Given the description of an element on the screen output the (x, y) to click on. 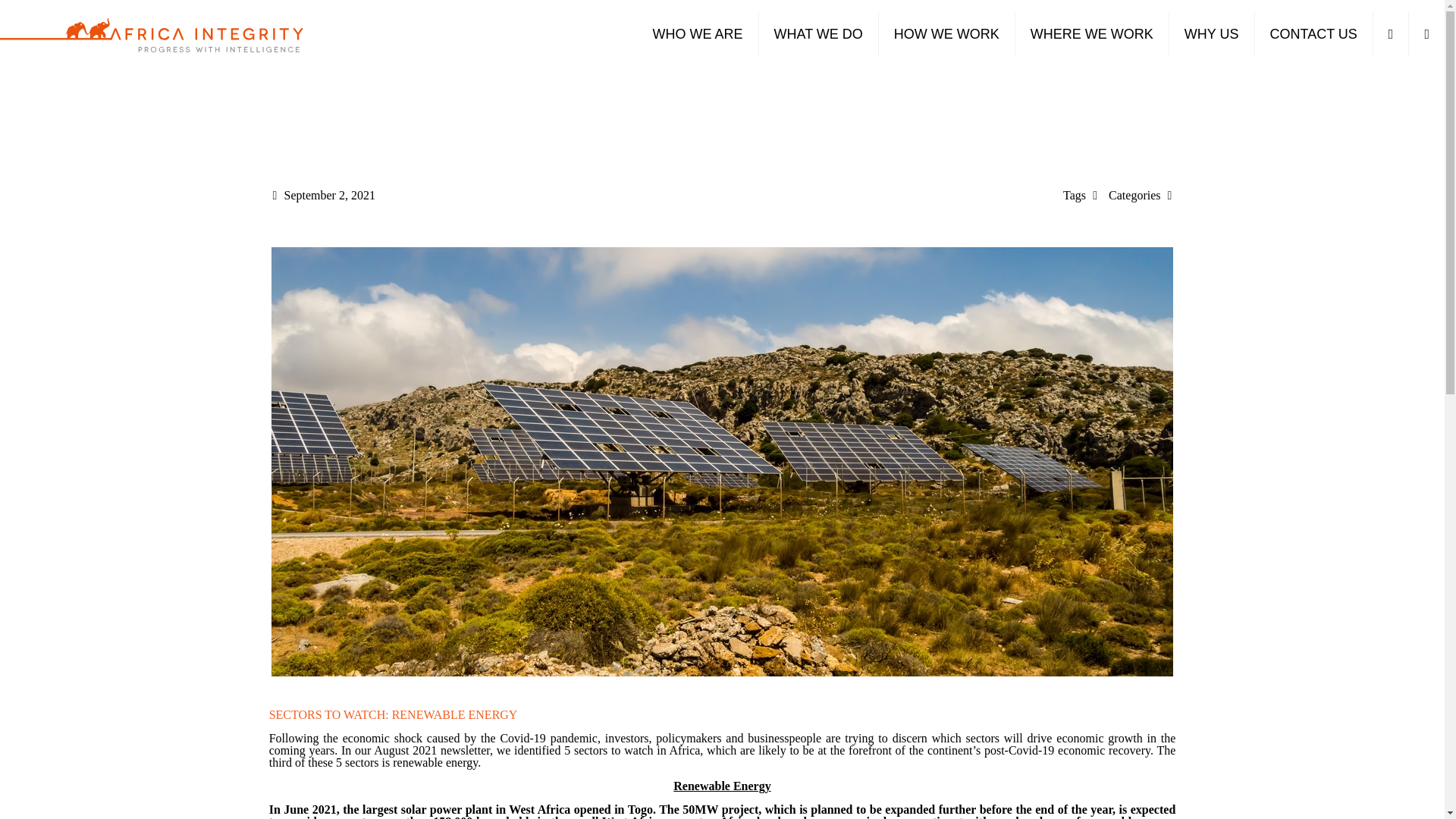
HOW WE WORK (946, 33)
Africa Integrity (151, 33)
WHO WE ARE (697, 33)
CONTACT US (1313, 33)
WHAT WE DO (817, 33)
WHERE WE WORK (1091, 33)
WHY US (1212, 33)
